Given the description of an element on the screen output the (x, y) to click on. 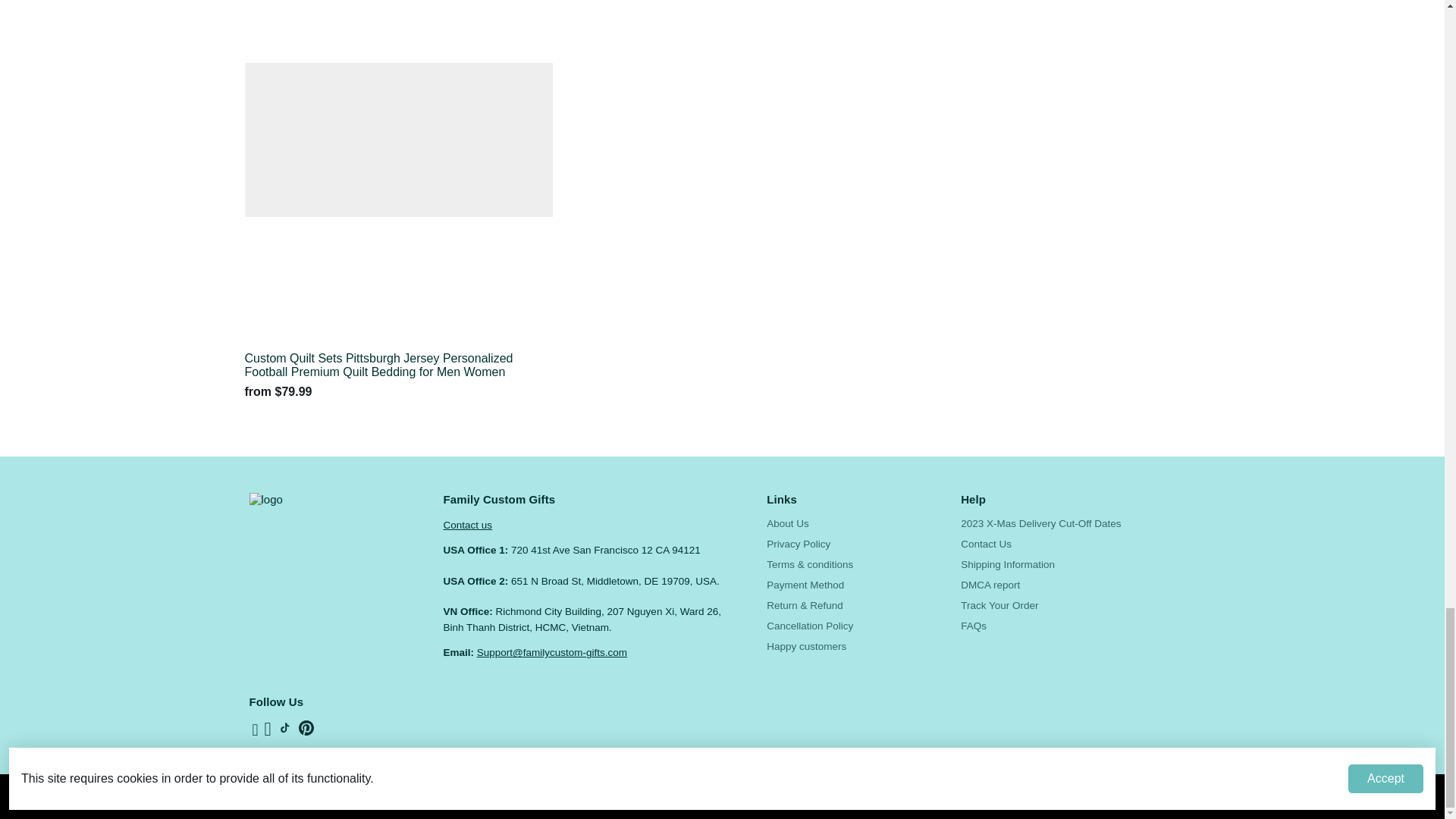
Afterpay (1097, 795)
Apple Pay (1160, 795)
American Express (1128, 795)
Contact Us (467, 524)
Visa (1192, 795)
